Given the description of an element on the screen output the (x, y) to click on. 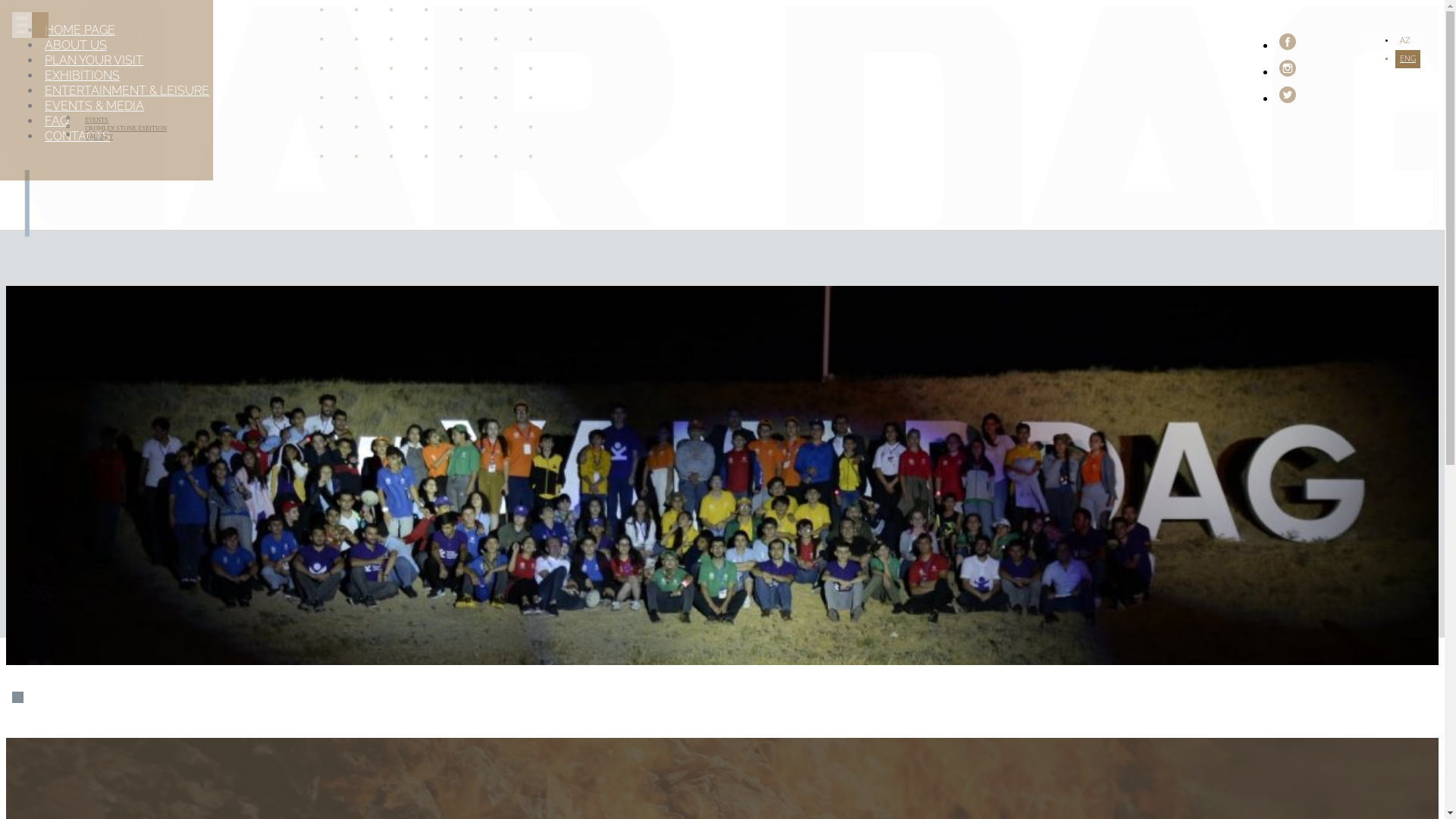
CROMLEX STONE EXBITION Element type: text (125, 128)
HOME PAGE Element type: text (79, 29)
ENTERTAINMENT & LEISURE Element type: text (126, 90)
ENG Element type: text (1407, 58)
AZ Element type: text (1404, 40)
ABOUT US Element type: text (75, 44)
PLAN YOUR VISIT Element type: text (93, 60)
EVENTS Element type: text (96, 119)
GALLERY Element type: text (98, 136)
EVENTS & MEDIA Element type: text (94, 105)
EXHIBITIONS Element type: text (81, 75)
FAQ Element type: text (56, 120)
CONTACTS Element type: text (76, 135)
